Given the description of an element on the screen output the (x, y) to click on. 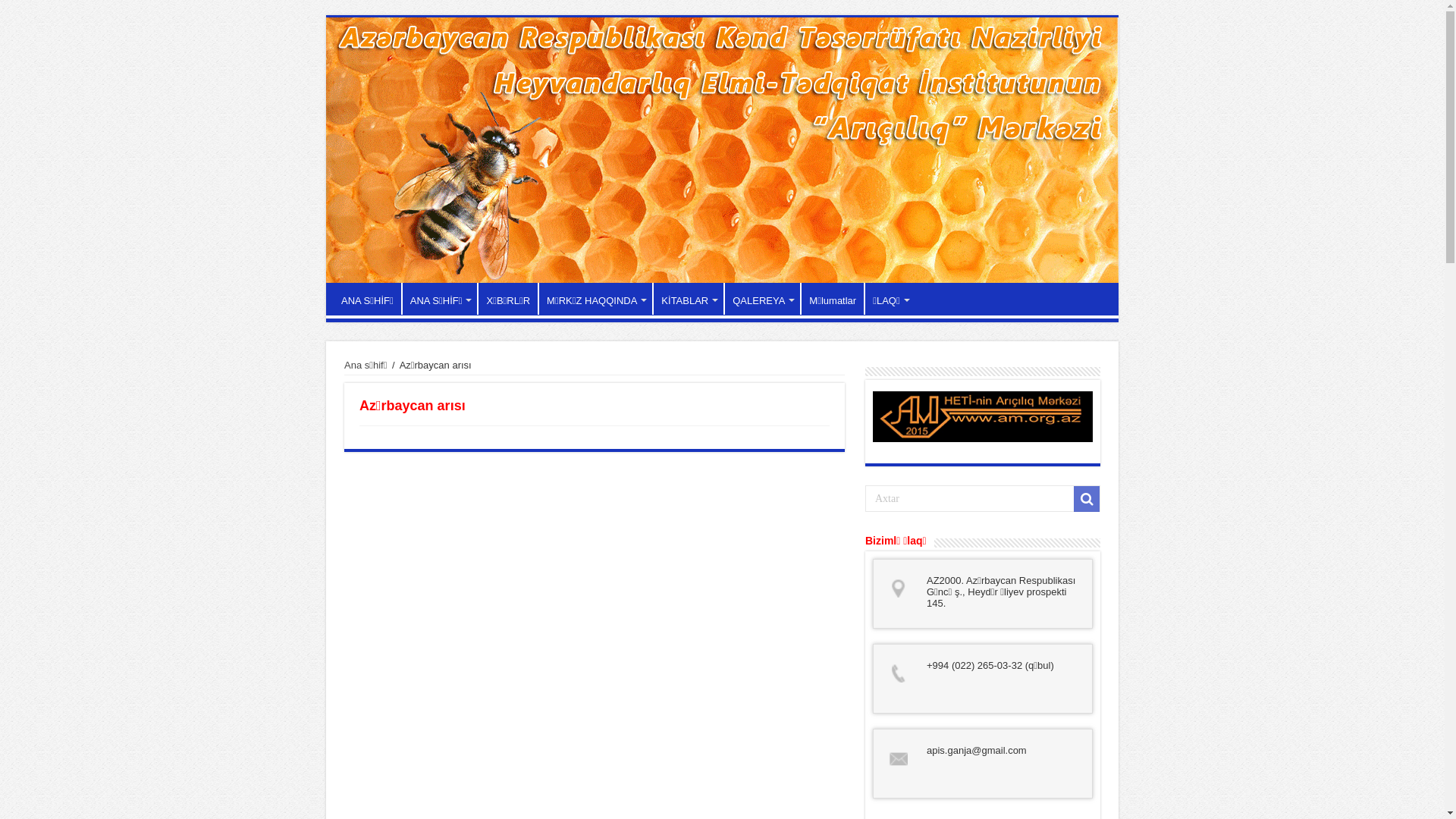
QALEREYA Element type: text (762, 298)
Axtar Element type: text (1086, 498)
